Given the description of an element on the screen output the (x, y) to click on. 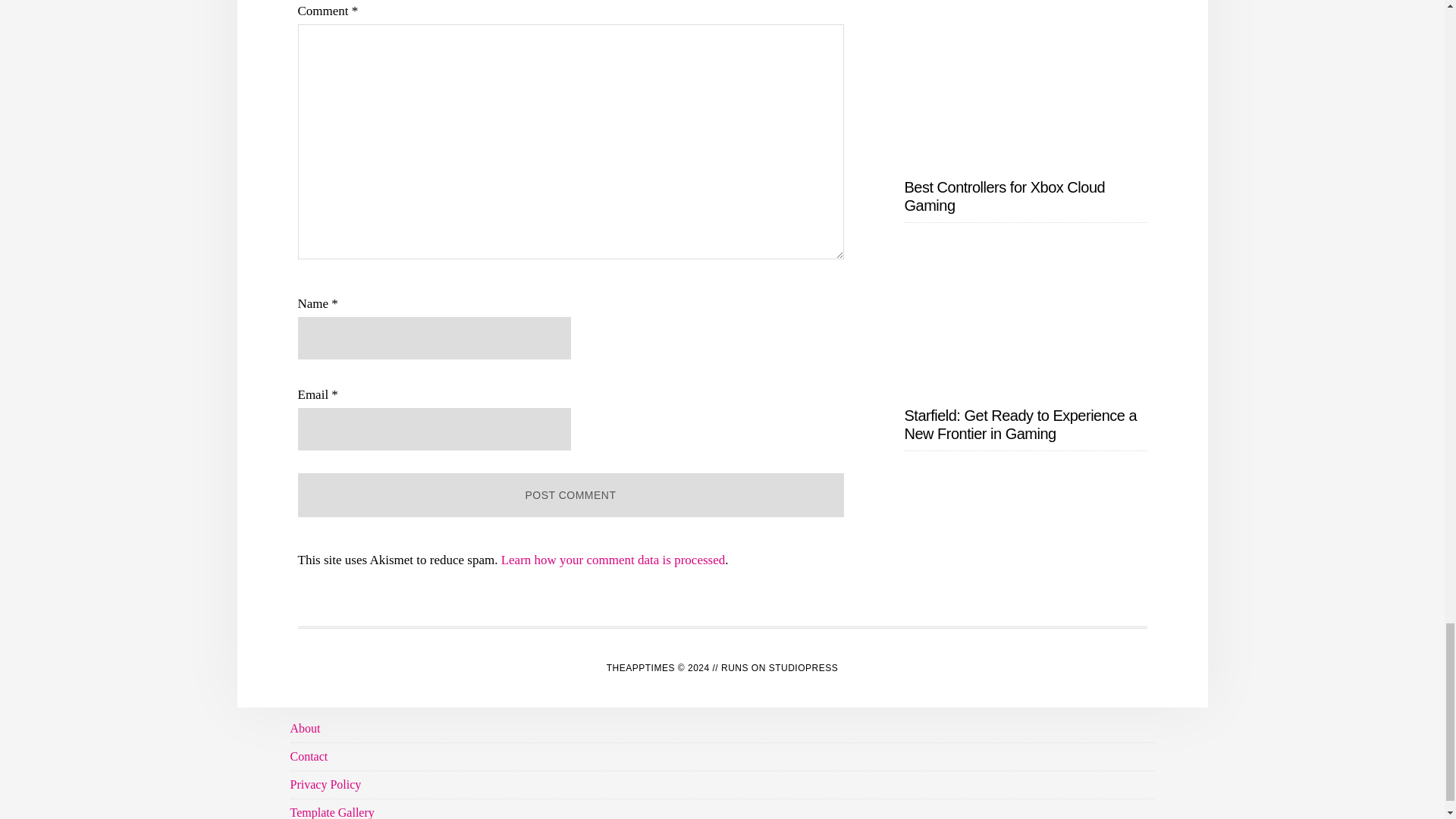
Post Comment (570, 494)
Post Comment (570, 494)
Learn how your comment data is processed (612, 559)
